Given the description of an element on the screen output the (x, y) to click on. 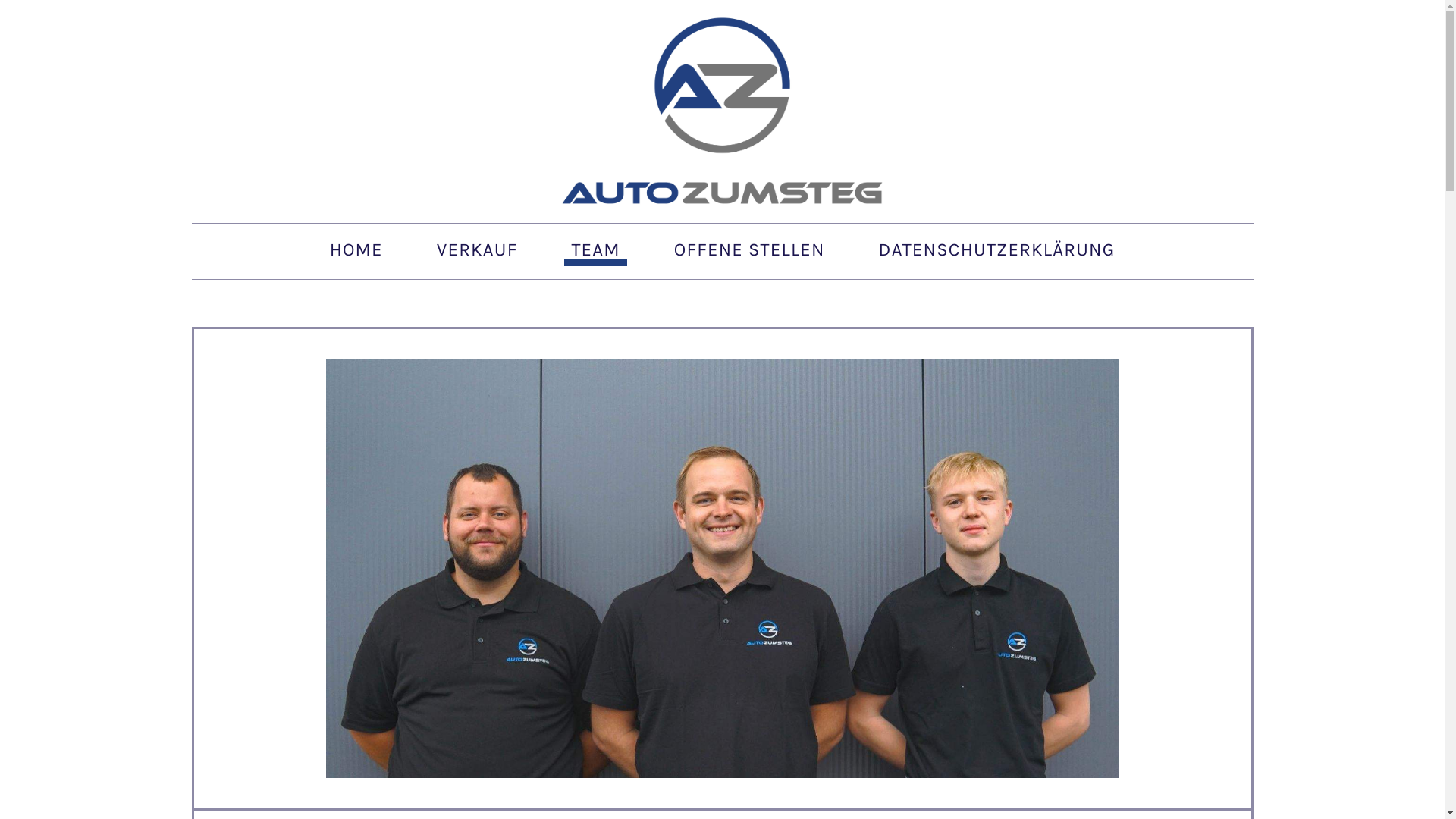
Auto Zumsteg GmbH Element type: hover (722, 110)
VERKAUF Element type: text (476, 250)
OFFENE STELLEN Element type: text (748, 250)
HOME Element type: text (355, 250)
TEAM Element type: text (595, 250)
